Given the description of an element on the screen output the (x, y) to click on. 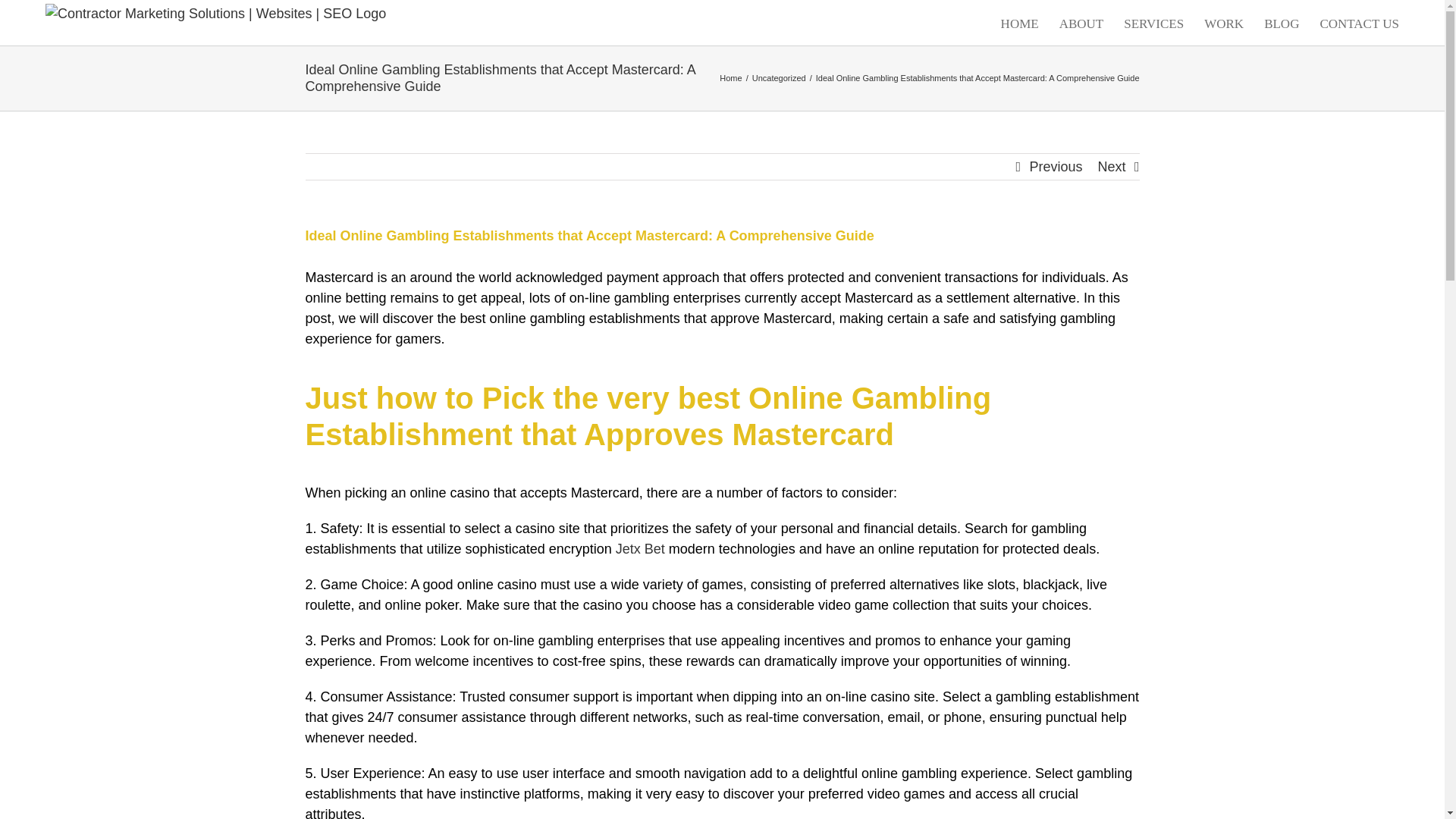
Jetx Bet (640, 548)
SERVICES (1153, 22)
CONTACT US (1359, 22)
Uncategorized (779, 77)
Previous (1055, 166)
ABOUT (1081, 22)
Next (1111, 166)
Home (730, 77)
